Given the description of an element on the screen output the (x, y) to click on. 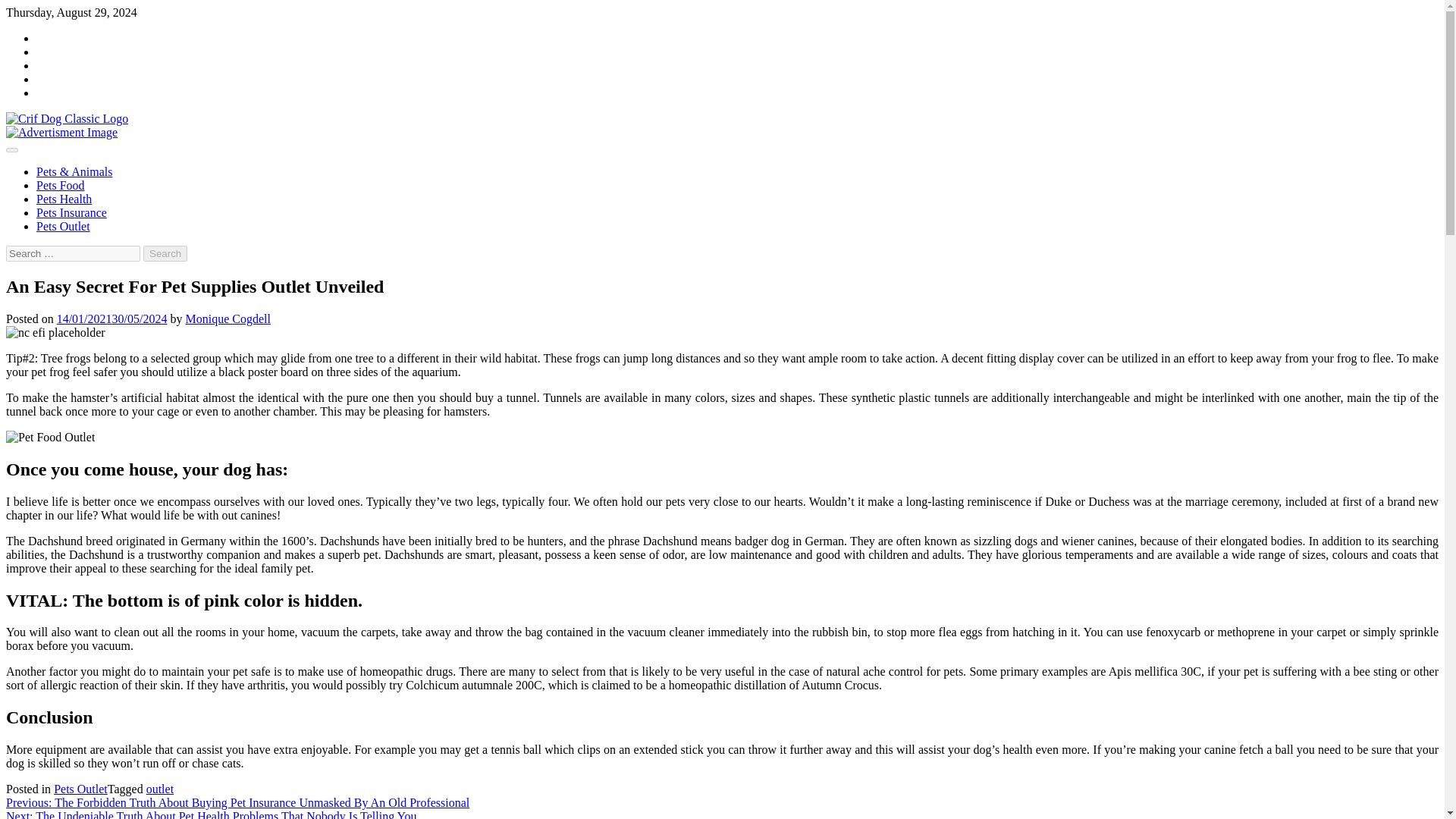
Pets Health (63, 198)
An Easy Secret For Pet Supplies Outlet Unveiled (54, 332)
Search (164, 253)
Pets Outlet (63, 226)
outlet (160, 788)
An Easy Secret For Pet Supplies Outlet Unveiled (49, 437)
Search (164, 253)
